Given the description of an element on the screen output the (x, y) to click on. 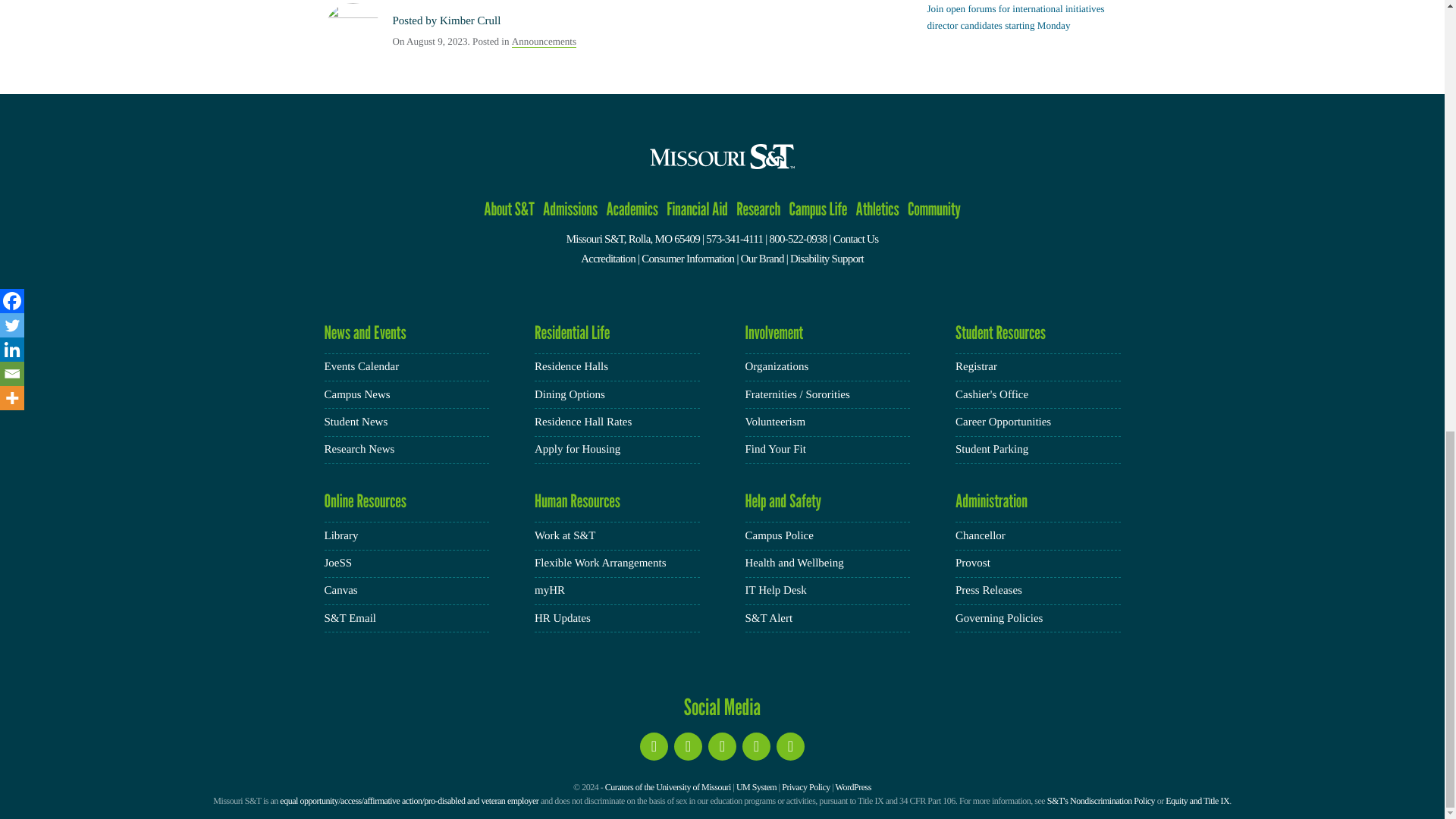
Posts by Kimber Crull (469, 21)
